Given the description of an element on the screen output the (x, y) to click on. 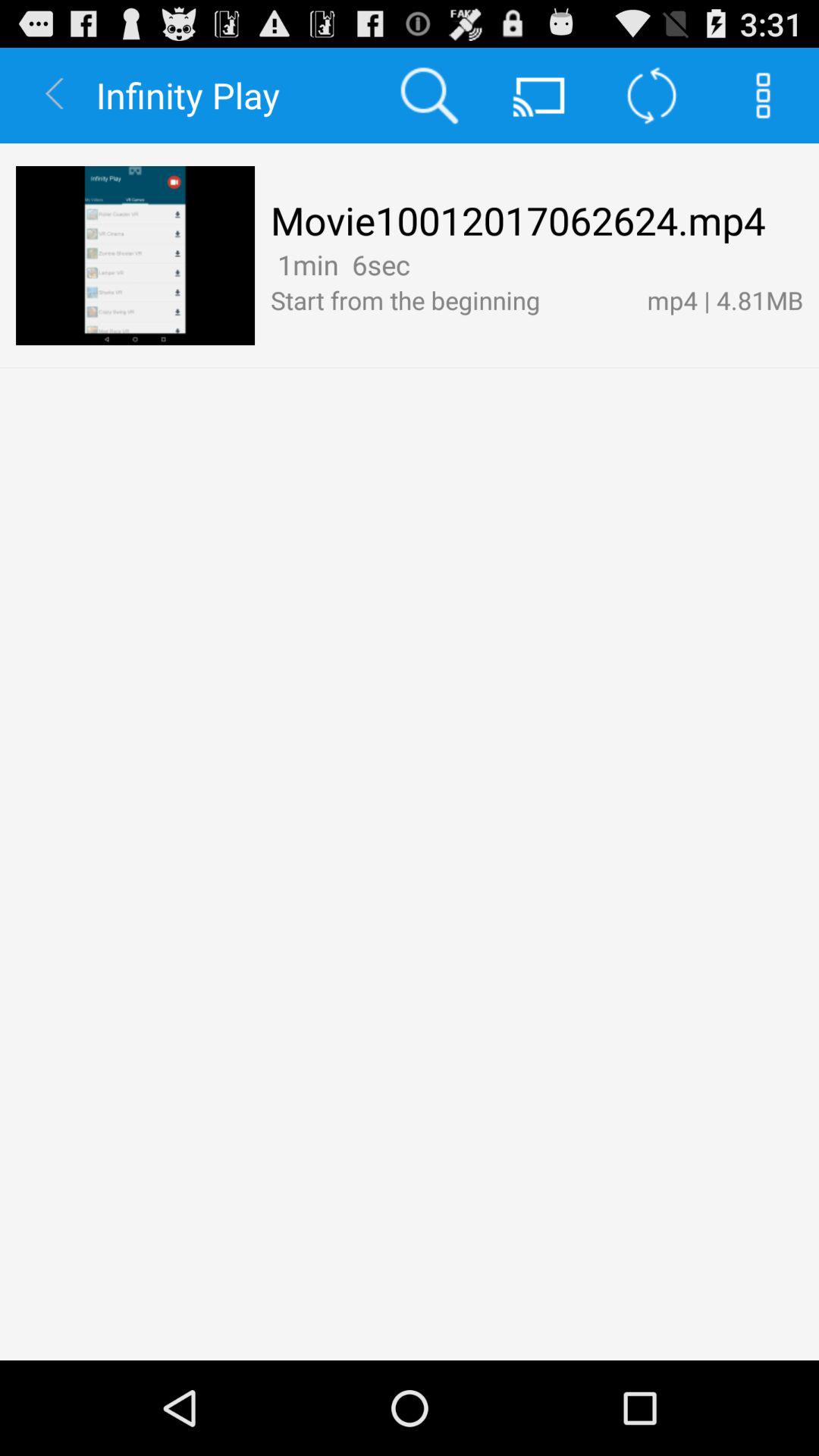
click item next to movie10012017062624.mp4 item (134, 255)
